Given the description of an element on the screen output the (x, y) to click on. 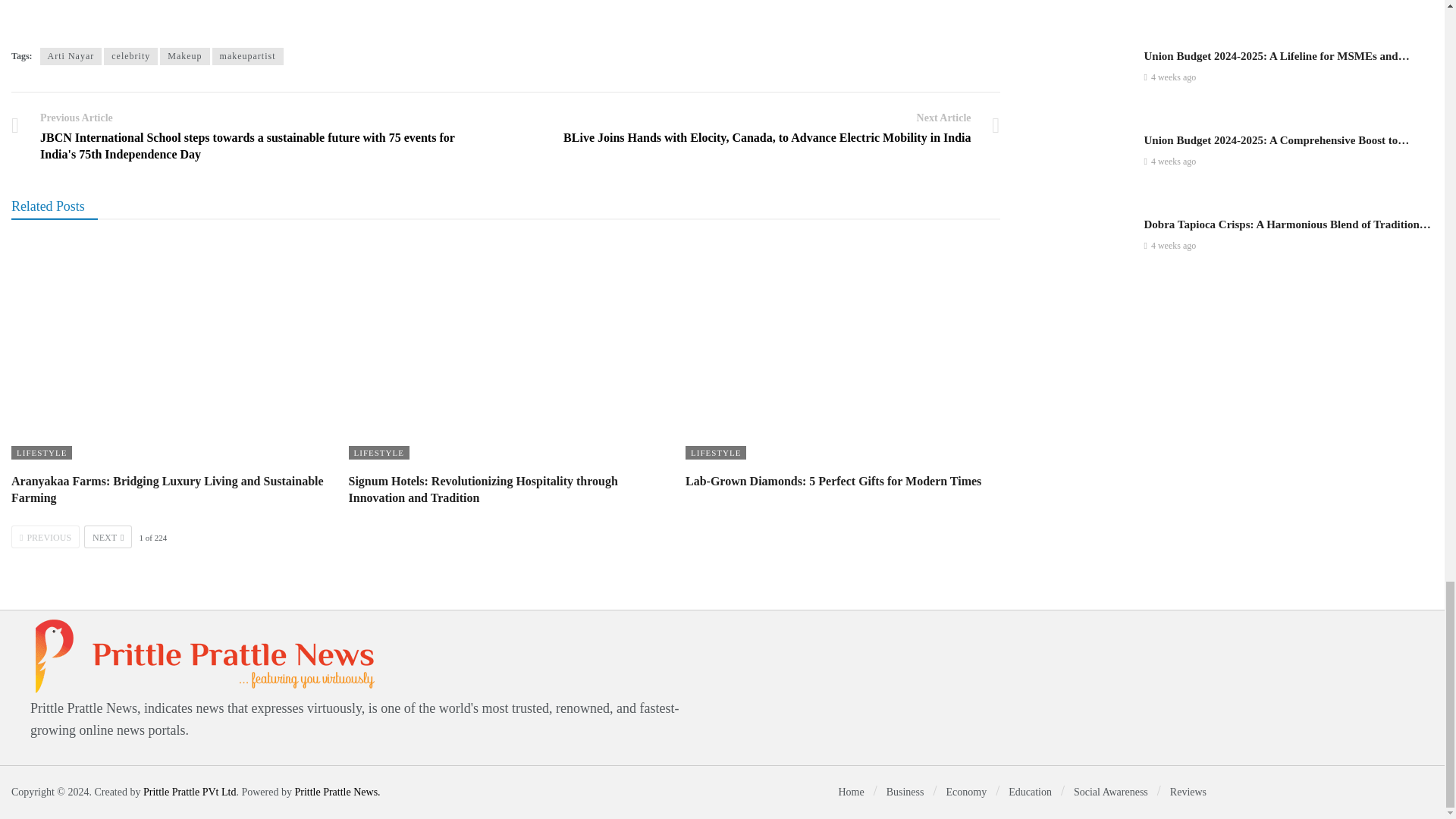
Lab-Grown Diamonds: 5 Perfect Gifts for Modern Times (842, 349)
Lab-Grown Diamonds: 5 Perfect Gifts for Modern Times (833, 481)
Previous (45, 536)
Next (108, 536)
